Given the description of an element on the screen output the (x, y) to click on. 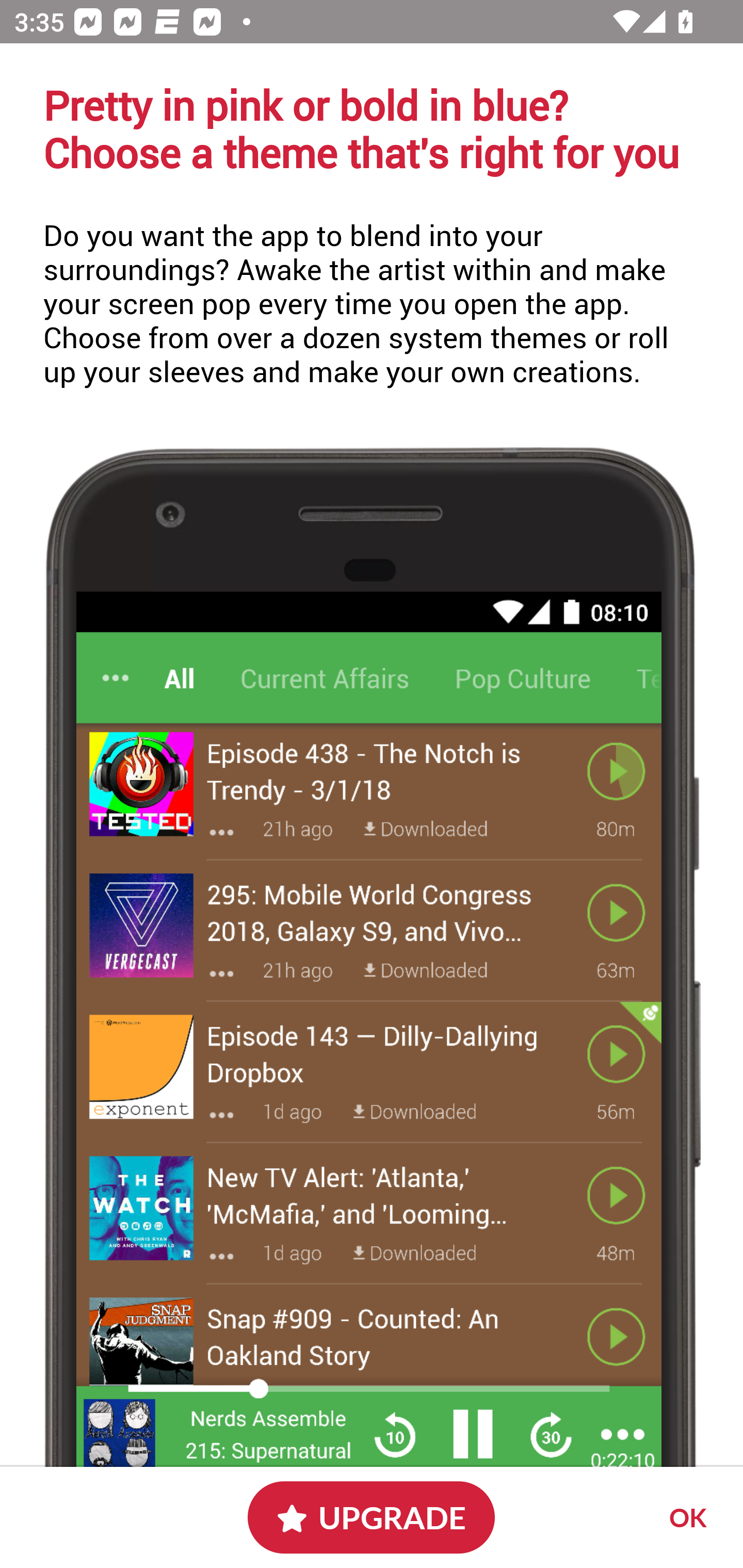
UPGRADE (371, 1517)
OK (684, 1517)
